Given the description of an element on the screen output the (x, y) to click on. 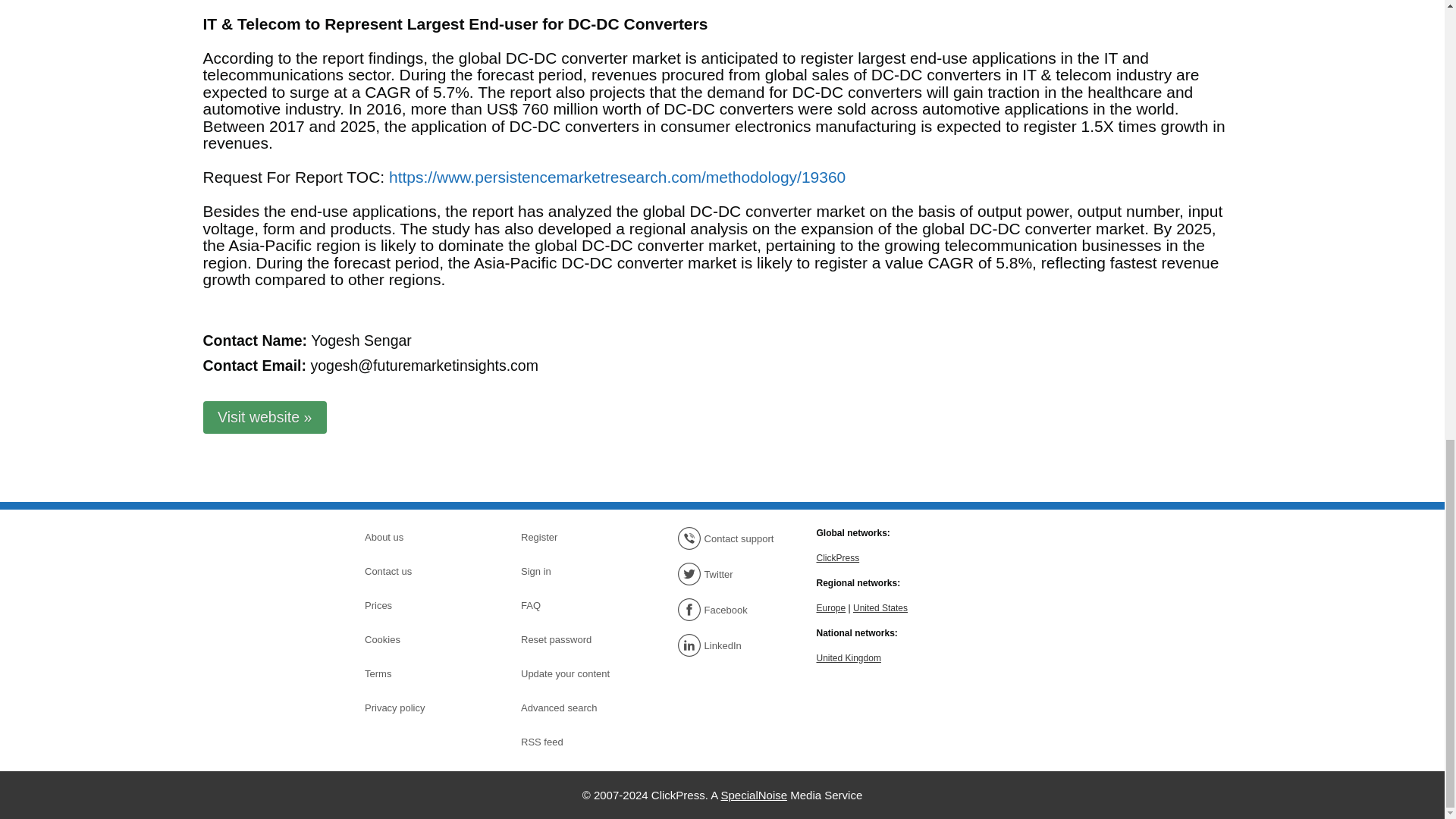
Contact support (730, 538)
United Kingdom (847, 656)
RSS feed (574, 742)
About us (417, 537)
ClickPress (837, 557)
Facebook (730, 609)
Update your content (574, 673)
Cookies (417, 639)
Reset password (574, 639)
United States (880, 606)
